Given the description of an element on the screen output the (x, y) to click on. 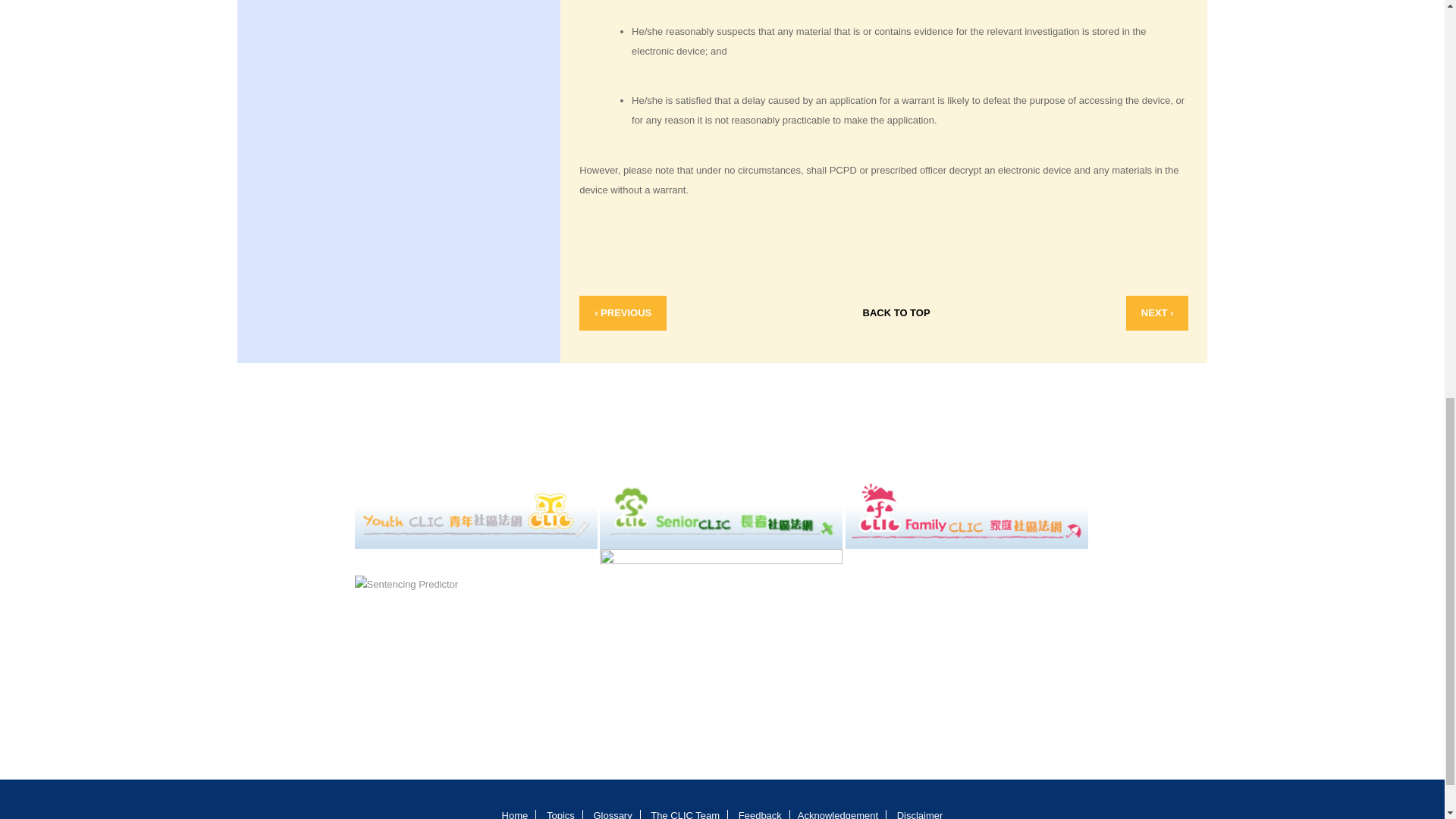
Go to parent page (895, 312)
BACK TO TOP (895, 312)
Go to next page (1157, 312)
Go to previous page (622, 312)
